Given the description of an element on the screen output the (x, y) to click on. 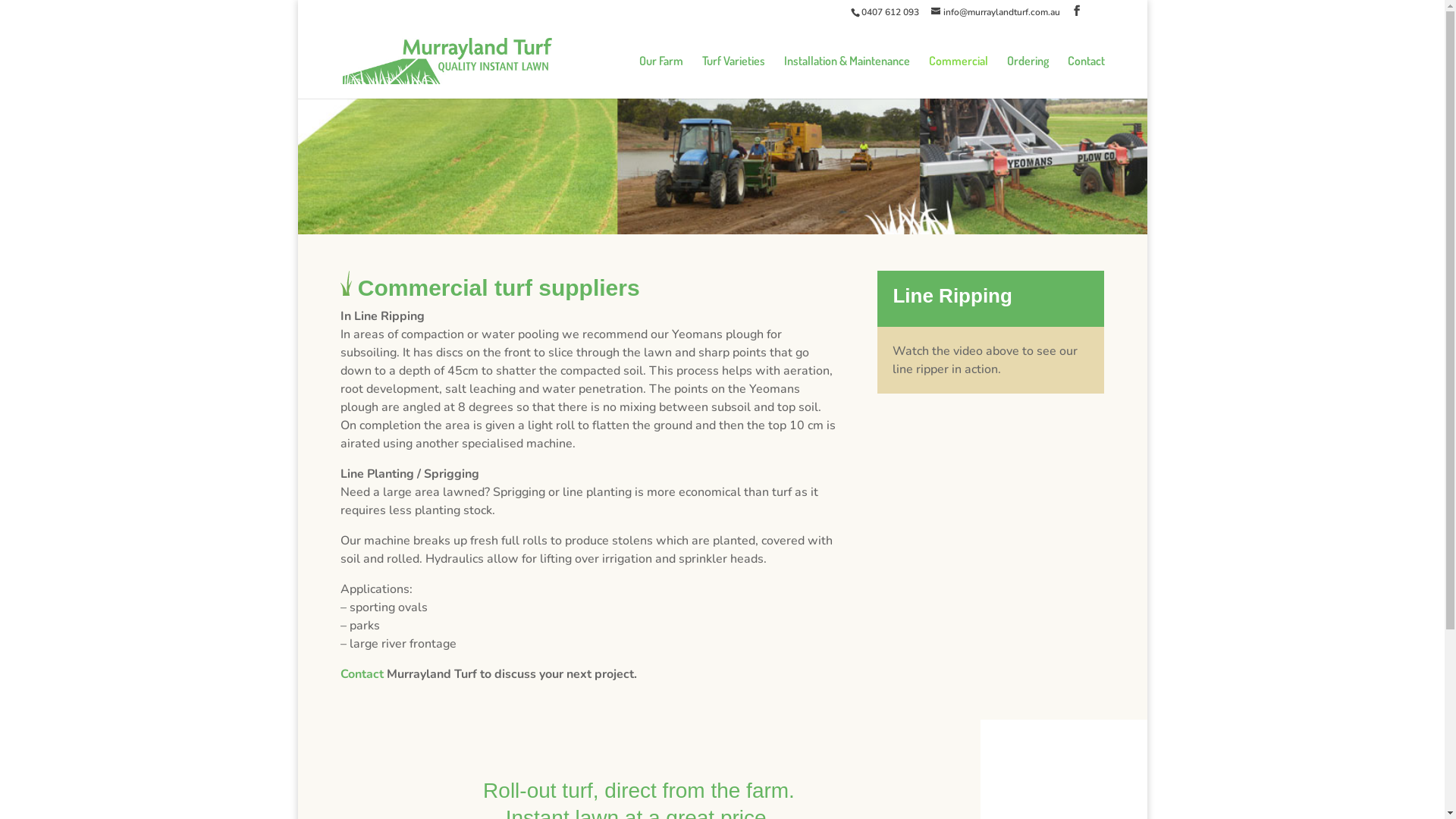
Contact Element type: text (1085, 76)
Our Farm Element type: text (660, 76)
Installation & Maintenance Element type: text (847, 76)
info@murraylandturf.com.au Element type: text (995, 12)
Turf Varieties Element type: text (733, 76)
Ordering Element type: text (1027, 76)
Commercial Element type: text (957, 76)
Contact Element type: text (360, 673)
